Given the description of an element on the screen output the (x, y) to click on. 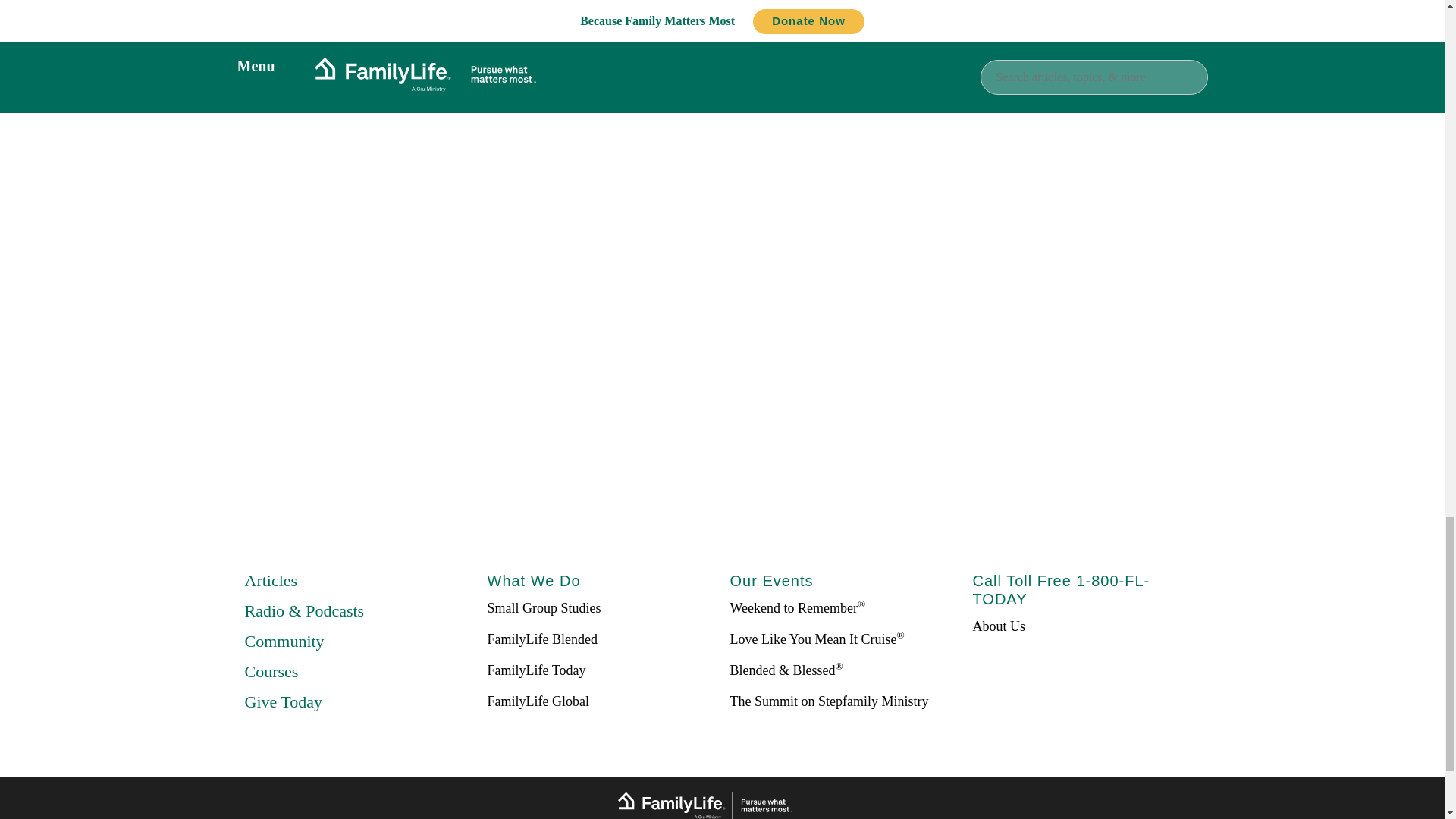
The Summit on Stepfamily Ministry (828, 701)
Give Today (282, 701)
FamilyLife Global (537, 701)
Courses (271, 670)
FamilyLife Blended (541, 639)
About Us (998, 626)
FamilyLife Today (535, 670)
Articles (270, 579)
Community (283, 640)
Small Group Studies (542, 607)
